Given the description of an element on the screen output the (x, y) to click on. 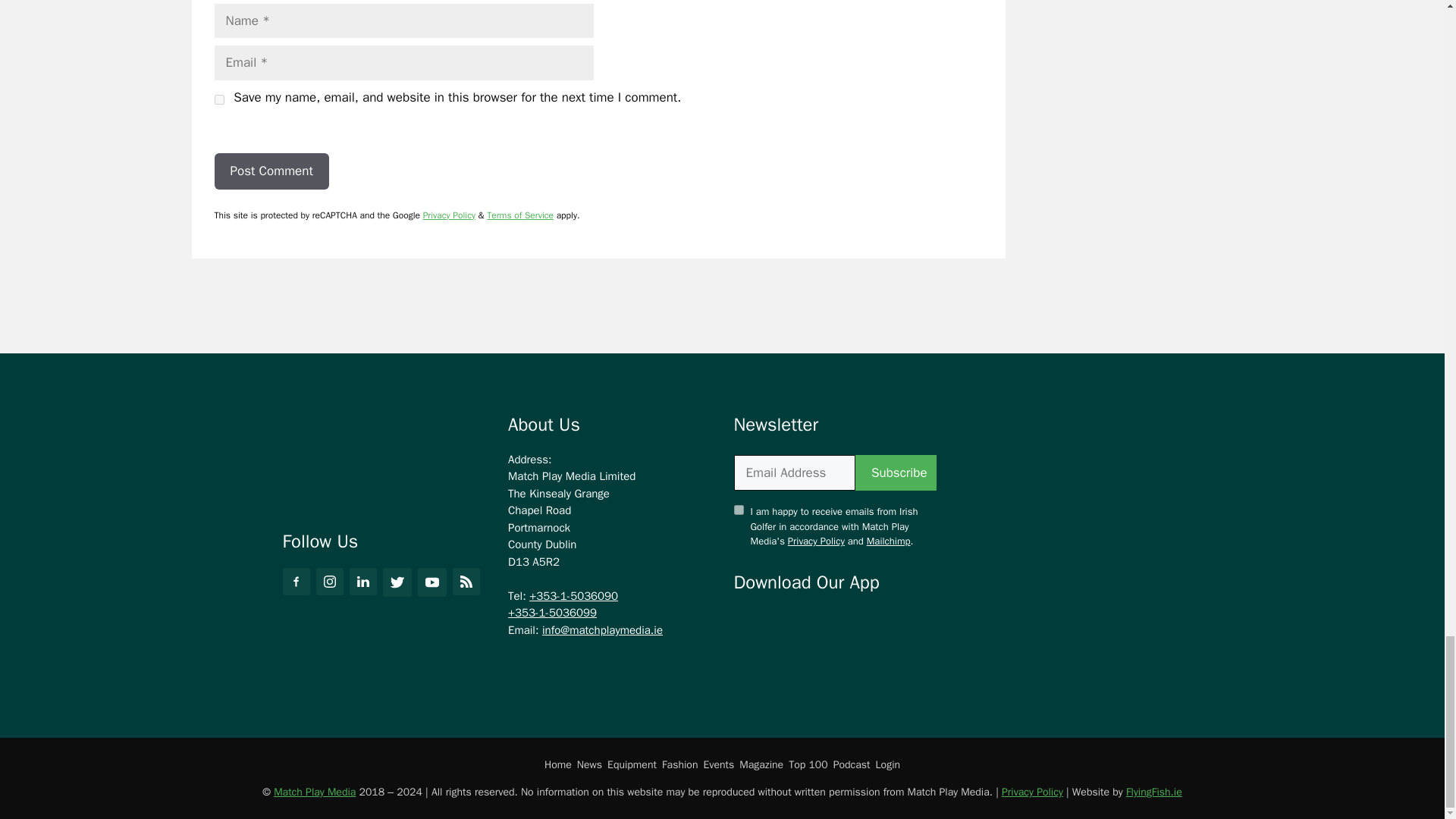
yes (219, 99)
Post Comment (271, 171)
Subscribe (896, 473)
download-on-the-app-store (779, 625)
Y (738, 510)
get-it-on-google-play-badge-logo (889, 625)
Match Play Media Logo (366, 457)
